Given the description of an element on the screen output the (x, y) to click on. 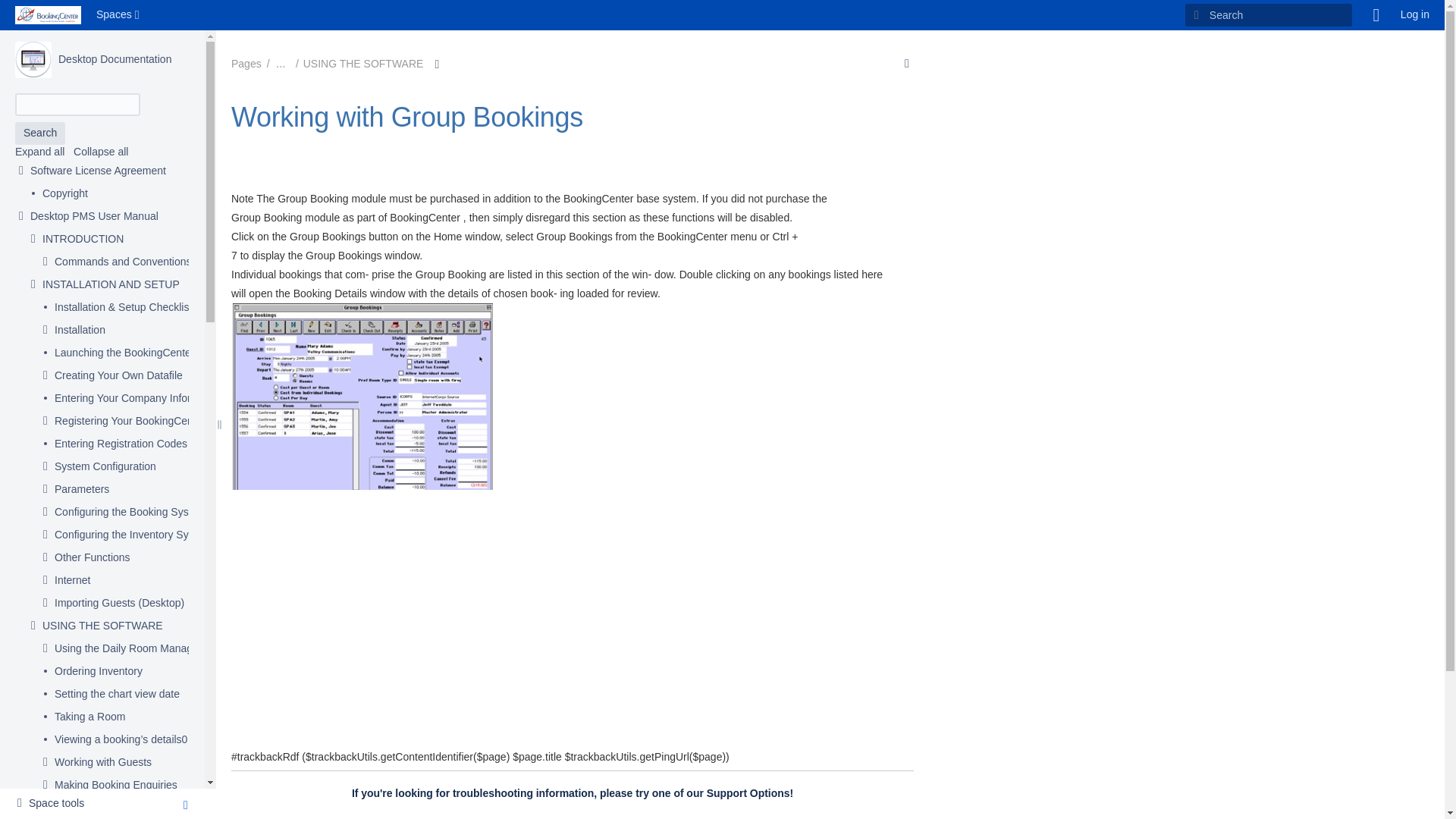
Desktop Documentation (114, 59)
Expand all (39, 151)
Spaces (118, 15)
Help (1376, 15)
Spaces (118, 15)
INTRODUCTION (82, 239)
Search (39, 133)
Log in (1415, 15)
Desktop Documentation (114, 59)
Software License Agreement (97, 171)
Commands and Conventions (123, 262)
Collapse all (101, 151)
Installation (79, 330)
Copyright (64, 193)
Desktop PMS User Manual (94, 216)
